Given the description of an element on the screen output the (x, y) to click on. 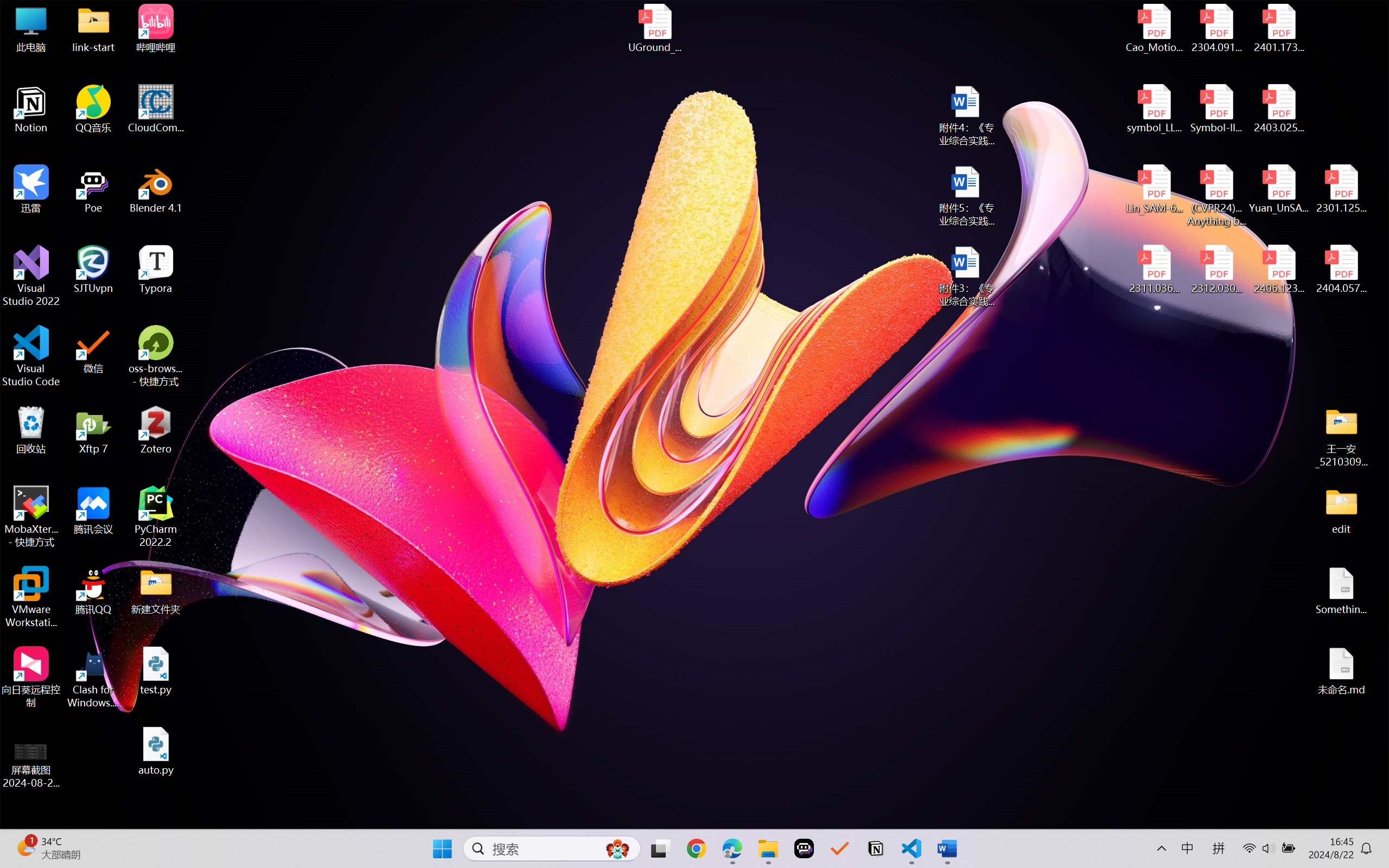
edit (1340, 510)
2404.05719v1.pdf (1340, 269)
CloudCompare (156, 109)
(CVPR24)Matching Anything by Segmenting Anything.pdf (1216, 195)
UGround_paper.pdf (654, 28)
symbol_LLM.pdf (1154, 109)
